Given the description of an element on the screen output the (x, y) to click on. 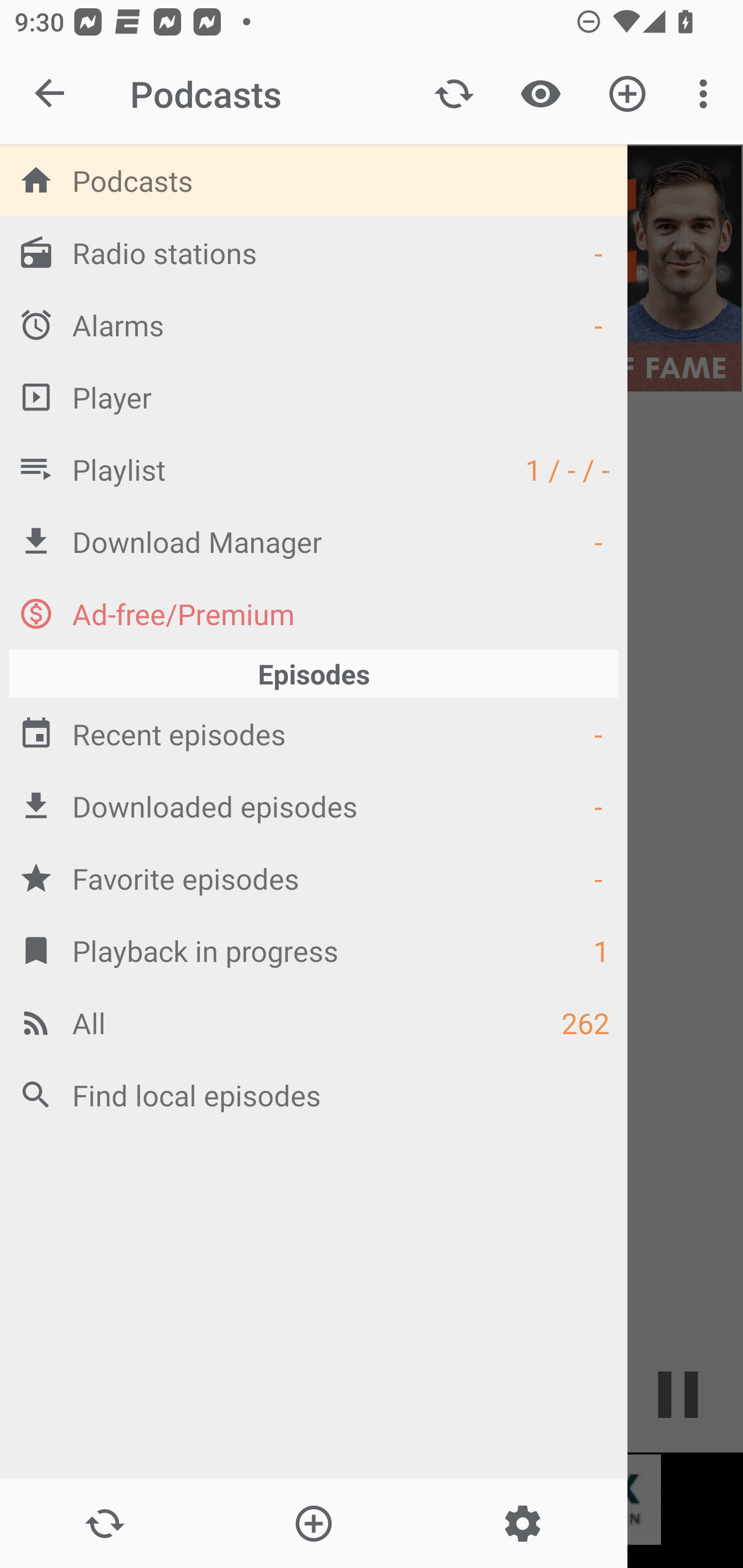
Close navigation sidebar (50, 93)
Update (453, 93)
Show / Hide played content (540, 93)
Add new Podcast (626, 93)
More options (706, 93)
Podcasts (313, 180)
Radio stations  -  (313, 252)
Alarms  -  (313, 324)
Player (313, 396)
Playlist 1 / - / - (313, 468)
Download Manager  -  (313, 540)
Ad-free/Premium (313, 613)
Recent episodes  -  (313, 733)
Downloaded episodes  -  (313, 805)
Favorite episodes  -  (313, 878)
Playback in progress 1 (313, 950)
All 262 (313, 1022)
Find local episodes (313, 1094)
Update (104, 1523)
Add new Podcast (312, 1523)
Settings (522, 1523)
